Given the description of an element on the screen output the (x, y) to click on. 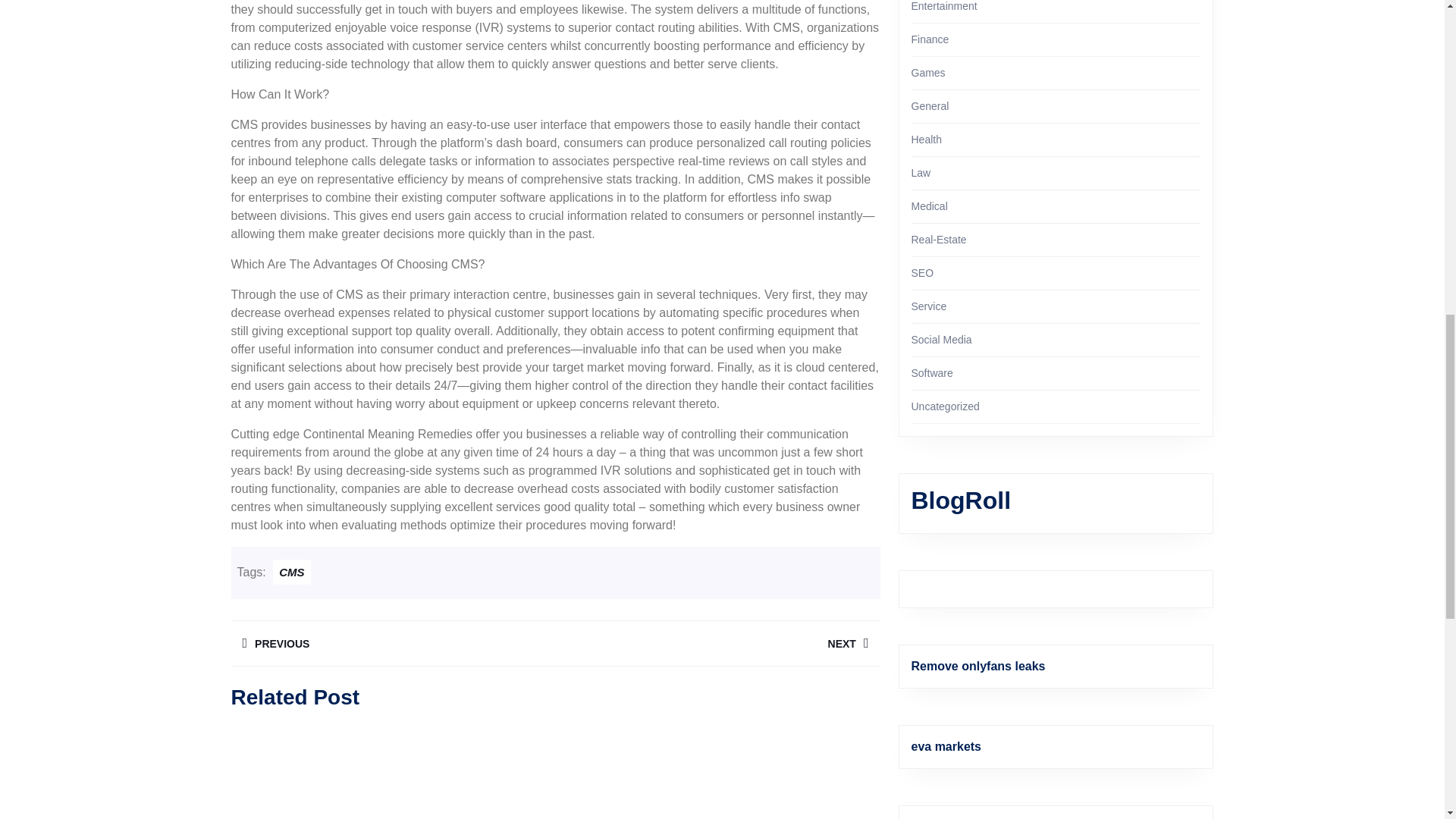
Health (926, 139)
Entertainment (943, 6)
Games (927, 72)
Law (921, 173)
CMS (291, 571)
General (930, 105)
Finance (392, 642)
